Given the description of an element on the screen output the (x, y) to click on. 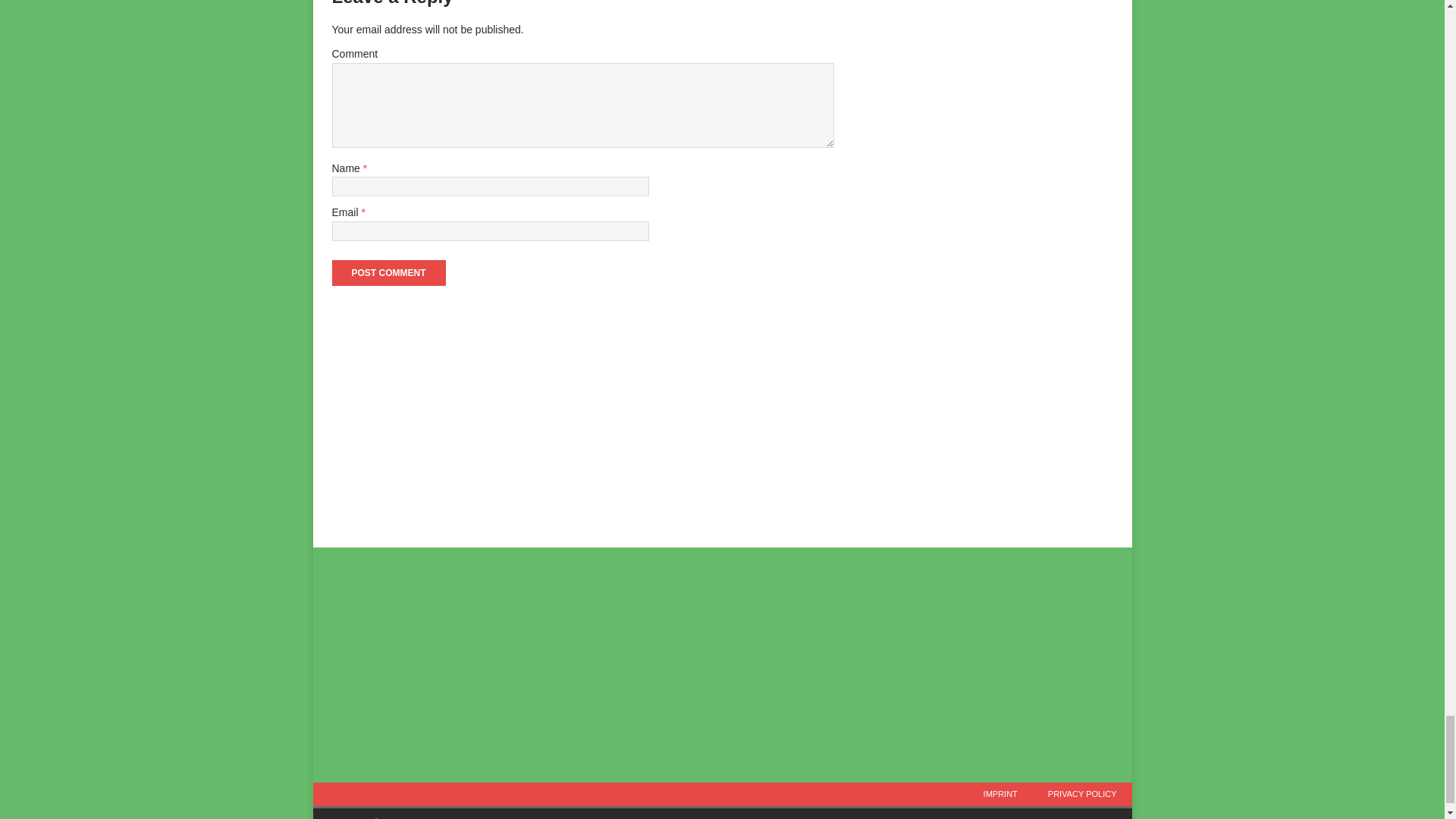
Post Comment (388, 272)
